Given the description of an element on the screen output the (x, y) to click on. 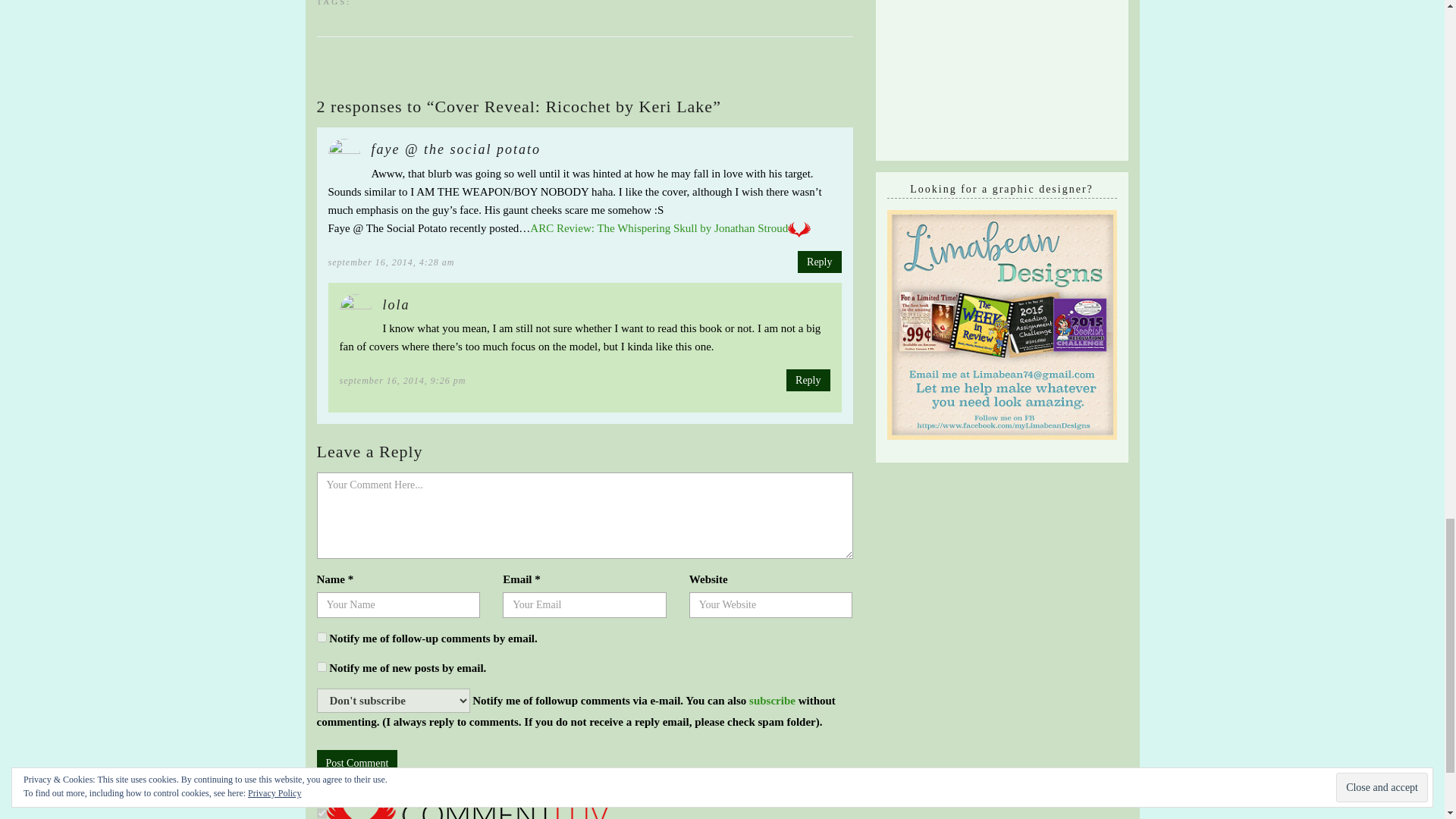
lola (395, 304)
ARC Review: The Whispering Skull by Jonathan Stroud (658, 227)
subscribe (321, 666)
Reply (819, 261)
september 16, 2014, 9:26 pm (402, 380)
subscribe (771, 700)
on (321, 813)
Post Comment (357, 763)
september 16, 2014, 4:28 am (390, 262)
subscribe (321, 637)
